Given the description of an element on the screen output the (x, y) to click on. 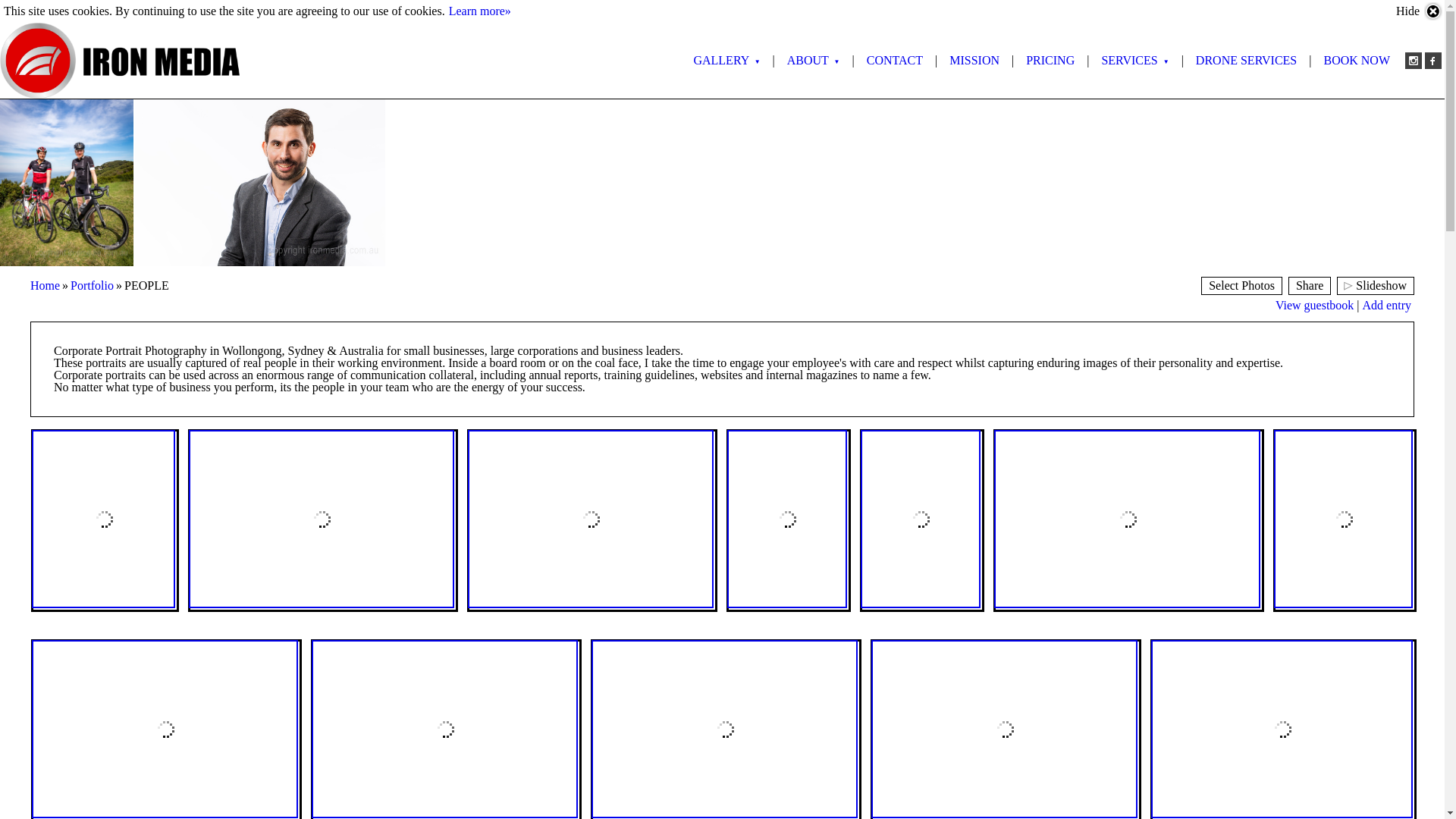
Portfolio Element type: text (91, 285)
PRICING Element type: text (1049, 60)
Home Element type: text (44, 285)
Add entry Element type: text (1386, 304)
Hide Element type: text (1419, 11)
BOOK NOW Element type: text (1356, 60)
View guestbook Element type: text (1314, 304)
CONTACT Element type: text (894, 60)
IRON MEDIA Element type: hover (119, 60)
MISSION Element type: text (974, 60)
DRONE SERVICES Element type: text (1245, 60)
